Given the description of an element on the screen output the (x, y) to click on. 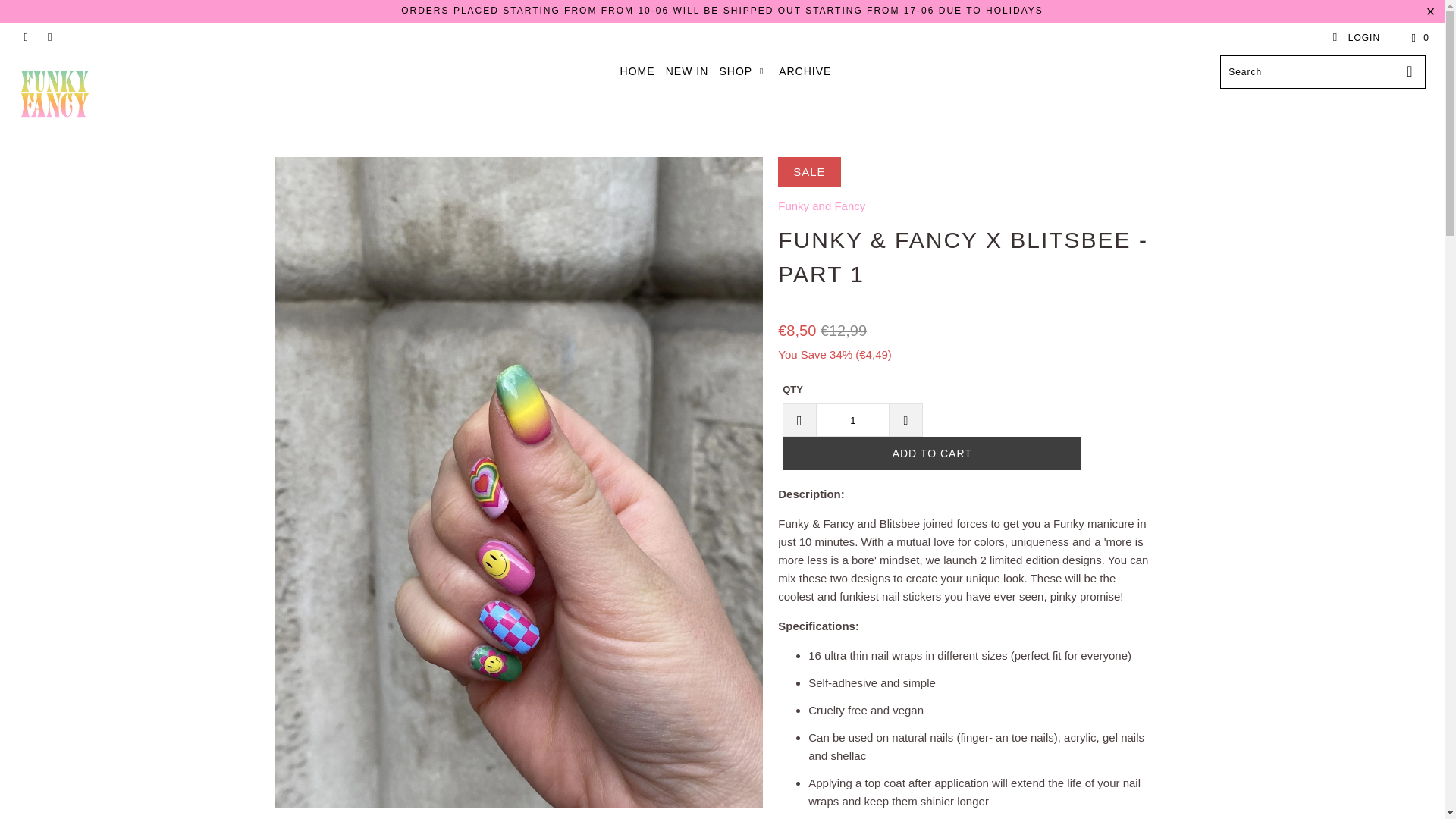
Funky and Fancy on Instagram (25, 37)
Email Funky and Fancy (48, 37)
1 (852, 419)
My Account  (1355, 37)
Funky and Fancy (122, 93)
Funky and Fancy (820, 205)
